Given the description of an element on the screen output the (x, y) to click on. 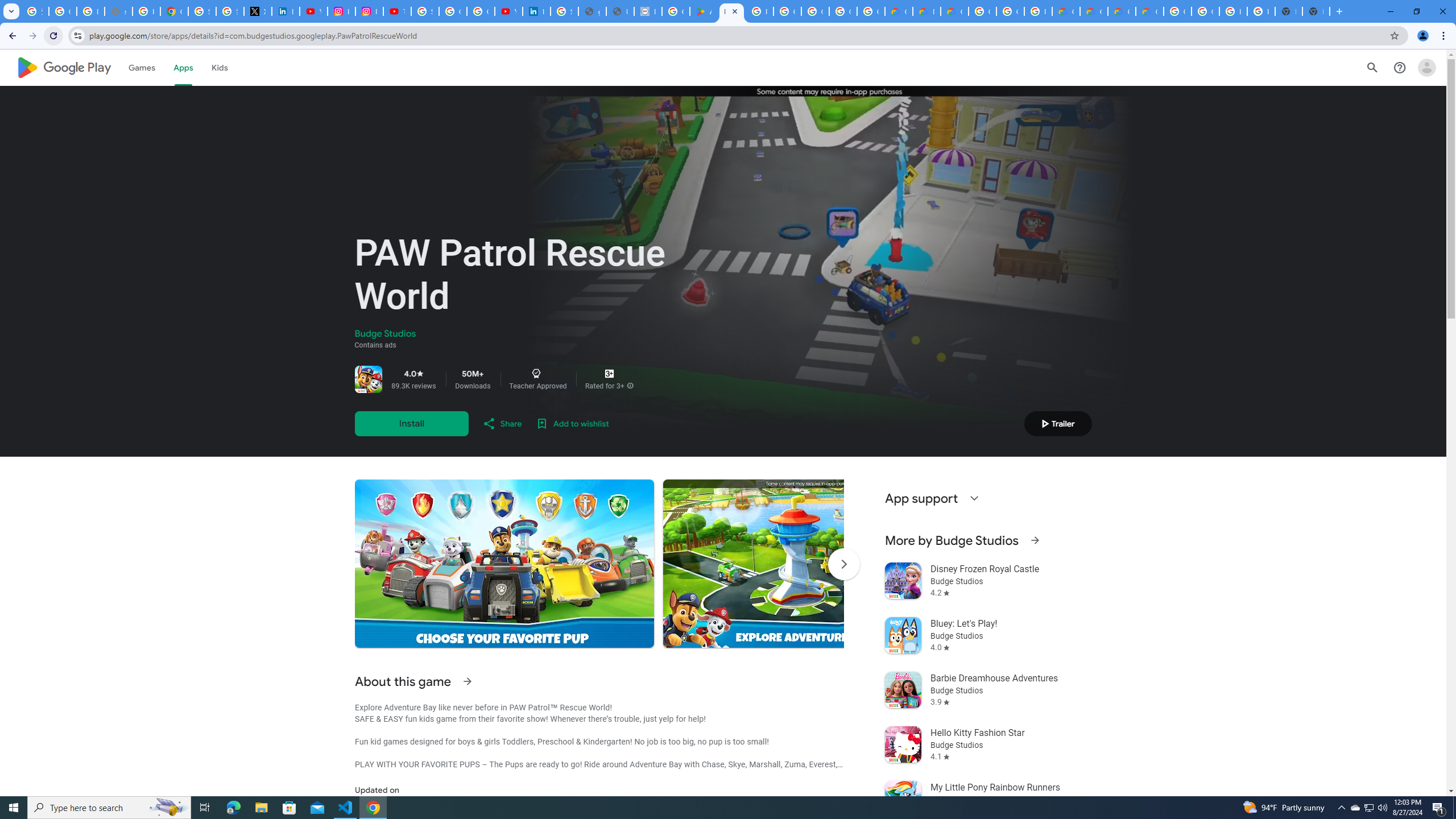
Open account menu (1426, 67)
Scroll Next (843, 563)
Expand (973, 497)
Privacy Help Center - Policies Help (146, 11)
Screenshot image (812, 563)
Play trailer (1058, 423)
